Given the description of an element on the screen output the (x, y) to click on. 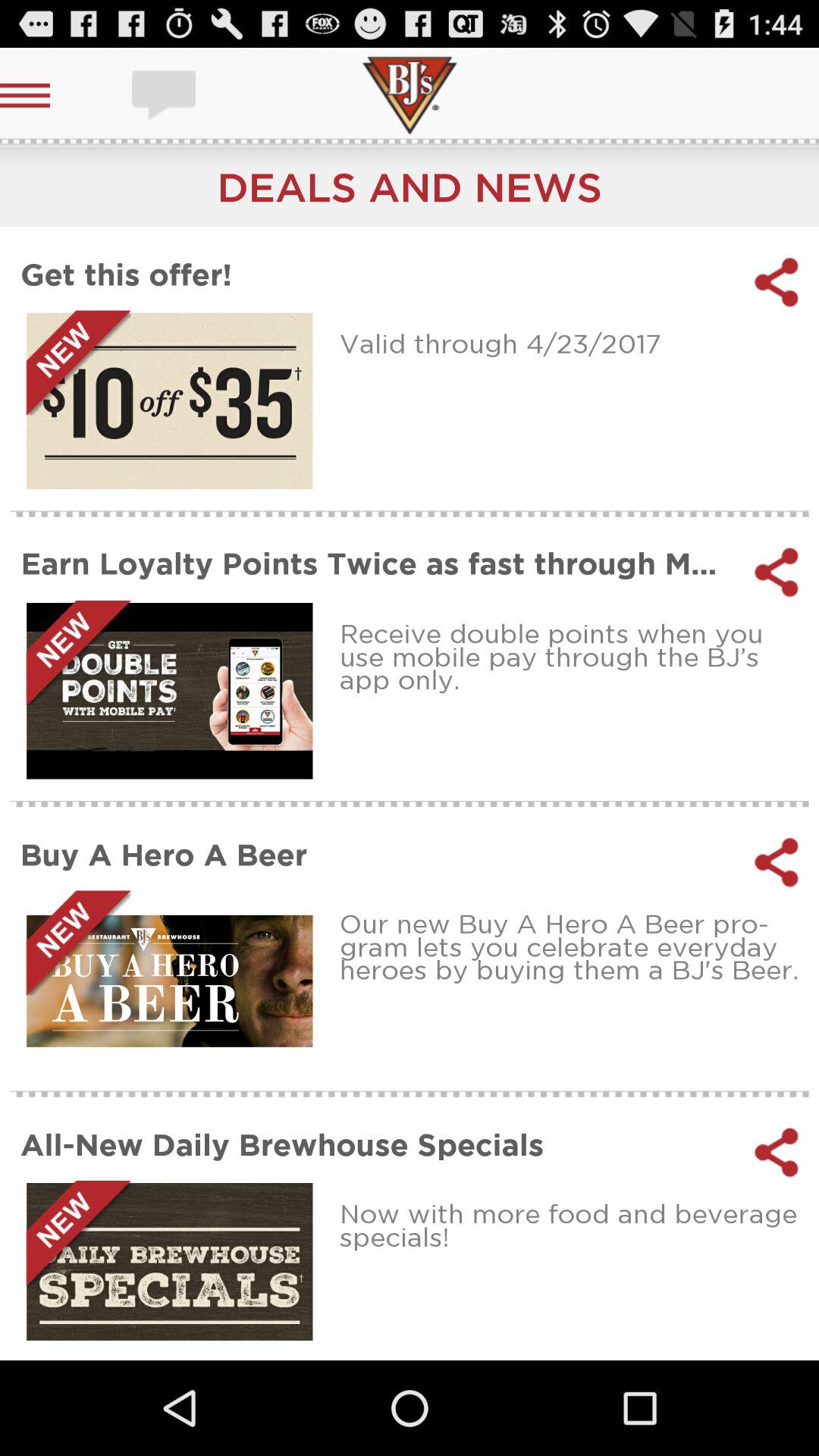
share this offer (776, 282)
